Given the description of an element on the screen output the (x, y) to click on. 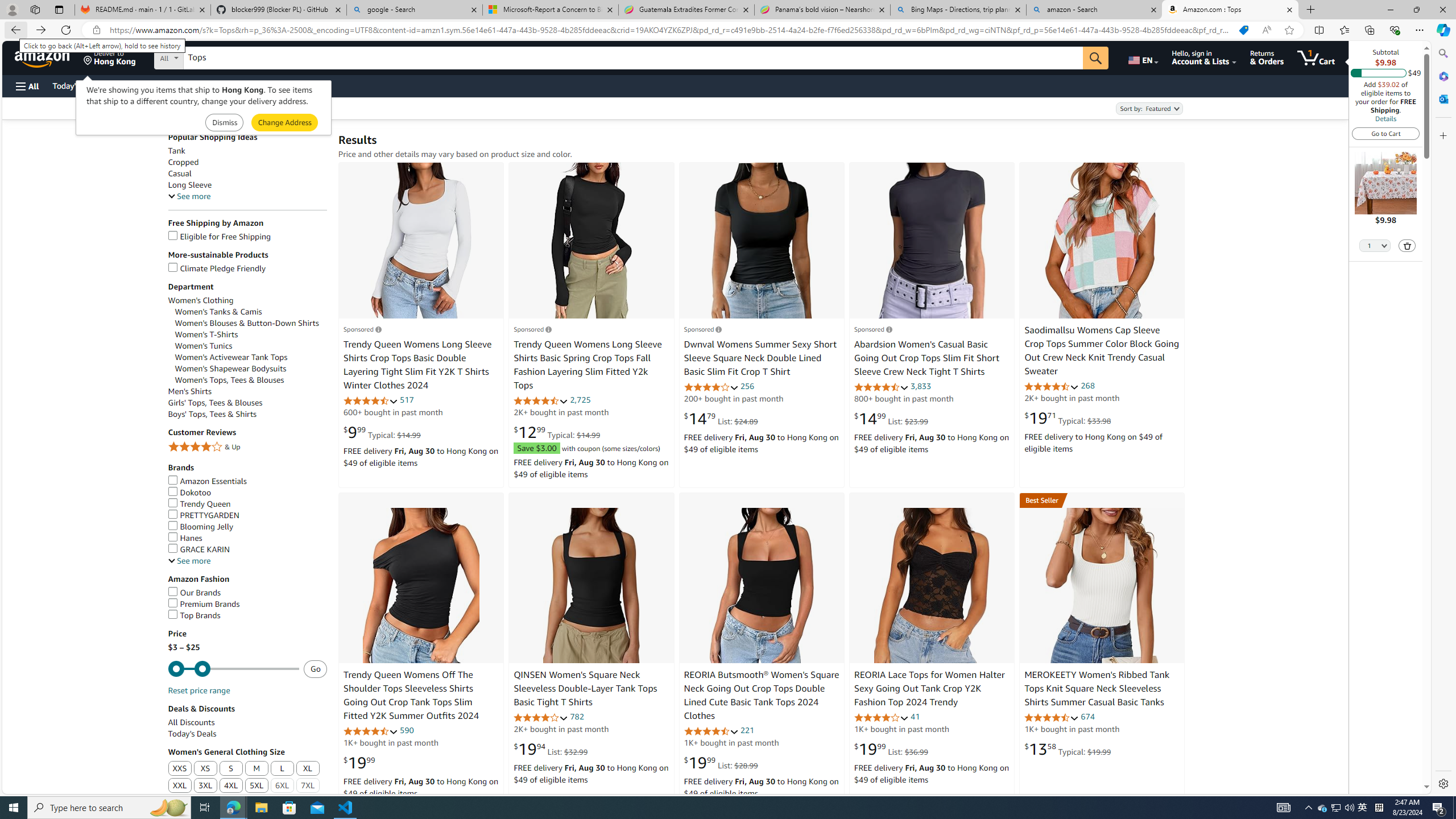
Women's Clothing (200, 300)
Details (1385, 118)
Women's T-Shirts (250, 334)
Trendy Queen (247, 504)
Amazon Essentials (247, 481)
6XL (282, 786)
XXS (179, 768)
